Given the description of an element on the screen output the (x, y) to click on. 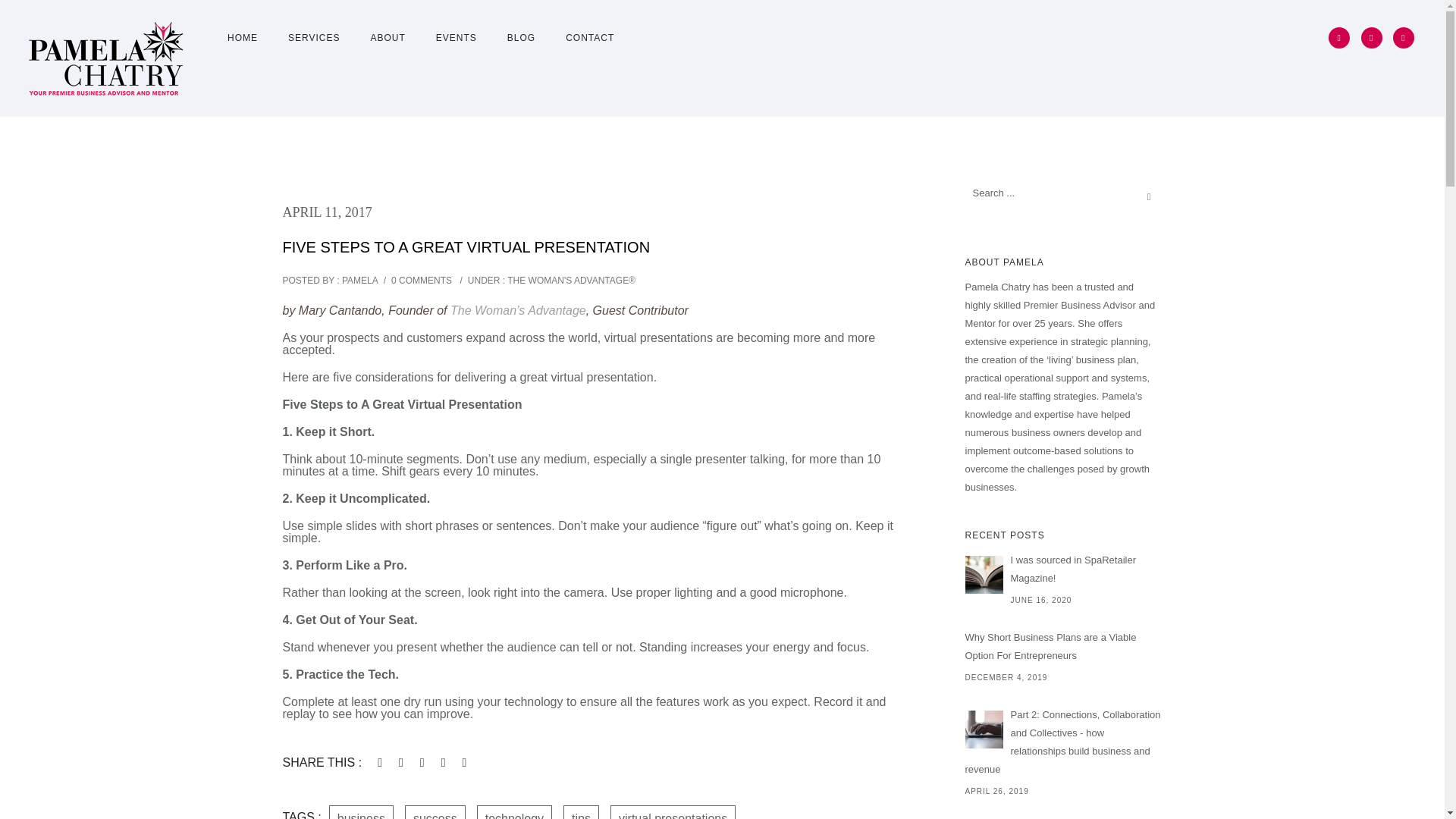
BLOG (521, 37)
0 COMMENTS (421, 280)
CONTACT (582, 37)
EVENTS (456, 37)
I was sourced in SpaRetailer Magazine! (1062, 569)
success (434, 812)
APRIL 11, 2017 (326, 212)
HOME (242, 37)
I was sourced in SpaRetailer Magazine! (983, 574)
